Given the description of an element on the screen output the (x, y) to click on. 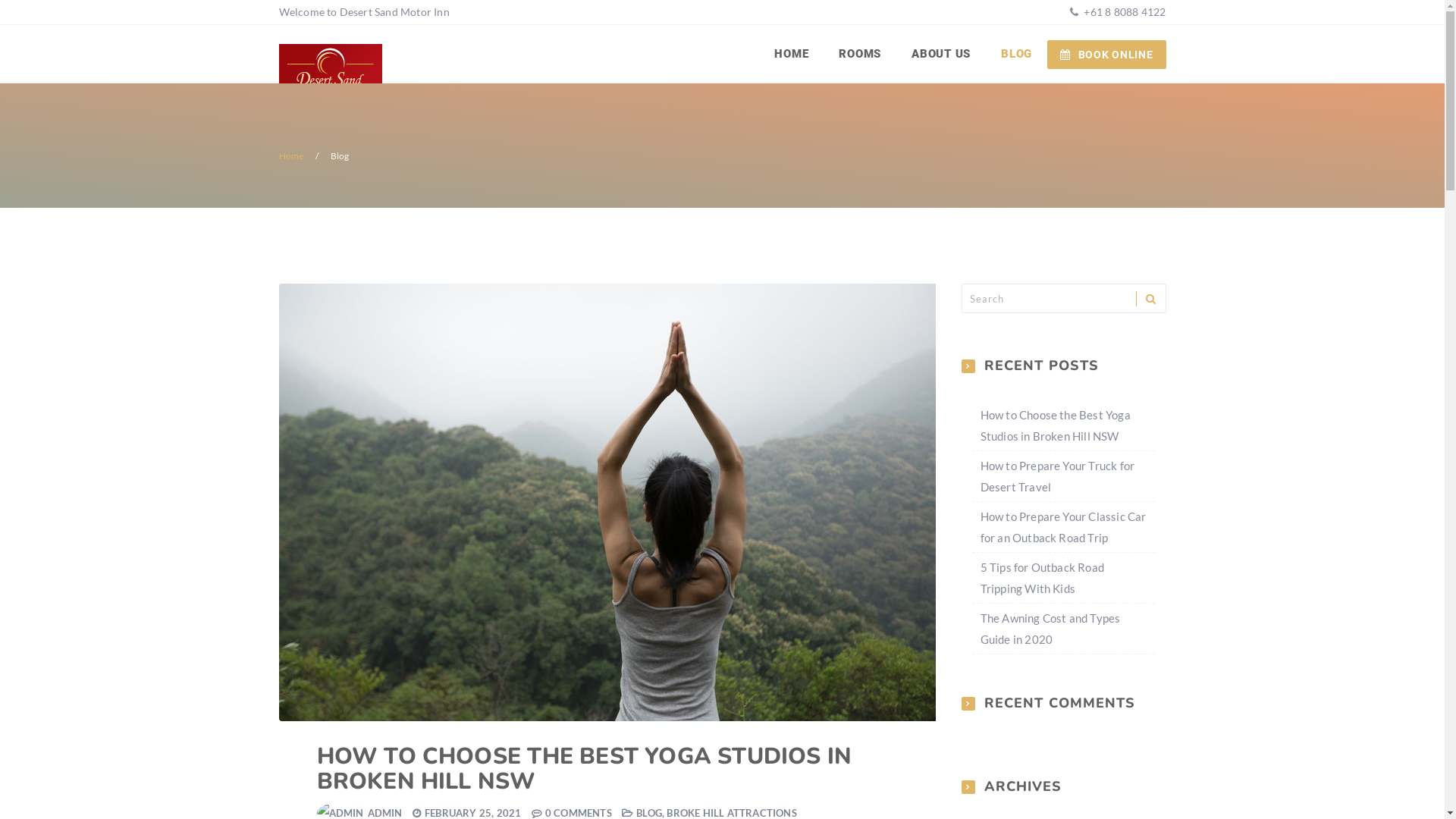
5 Tips for Outback Road Tripping With Kids Element type: text (1041, 577)
BLOG Element type: text (1016, 53)
HOW TO CHOOSE THE BEST YOGA STUDIOS IN BROKEN HILL NSW Element type: text (584, 768)
Home Element type: text (291, 155)
+61 8 8088 4122 Element type: text (1123, 11)
HOME Element type: text (791, 53)
ROOMS Element type: text (859, 53)
The Awning Cost and Types Guide in 2020 Element type: text (1049, 628)
BOOK ONLINE Element type: text (1106, 54)
How to Prepare Your Classic Car for an Outback Road Trip Element type: text (1062, 526)
How to Prepare Your Truck for Desert Travel Element type: text (1056, 475)
ABOUT US Element type: text (940, 53)
How to Choose the Best Yoga Studios in Broken Hill NSW Element type: text (1054, 424)
